Given the description of an element on the screen output the (x, y) to click on. 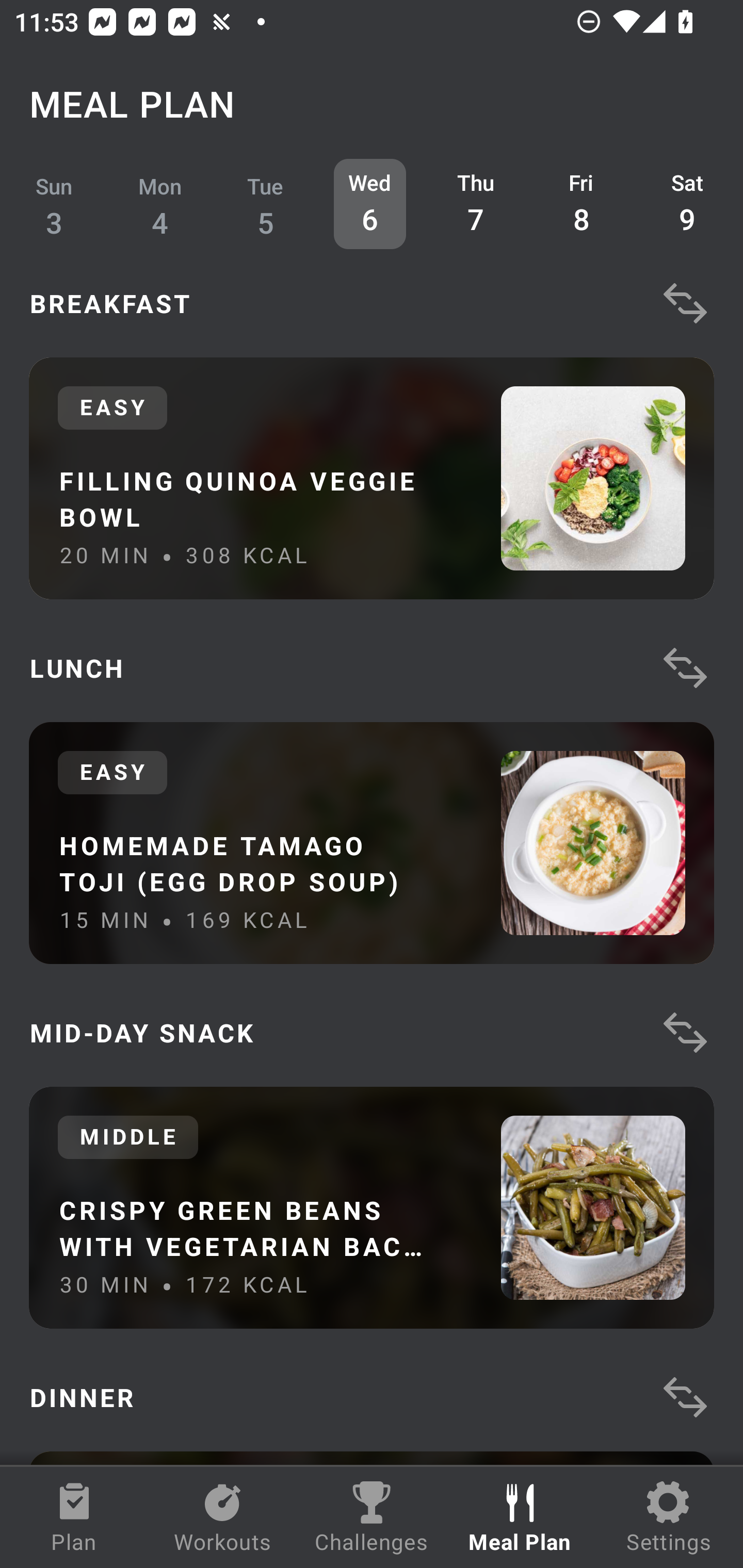
Wed 6 (369, 203)
Thu 7 (475, 203)
Fri 8 (581, 203)
Sat 9 (687, 203)
EASY FILLING QUINOA VEGGIE BOWL 20 MIN • 308 KCAL (371, 477)
 Plan  (74, 1517)
 Workouts  (222, 1517)
 Challenges  (371, 1517)
 Settings  (668, 1517)
